Given the description of an element on the screen output the (x, y) to click on. 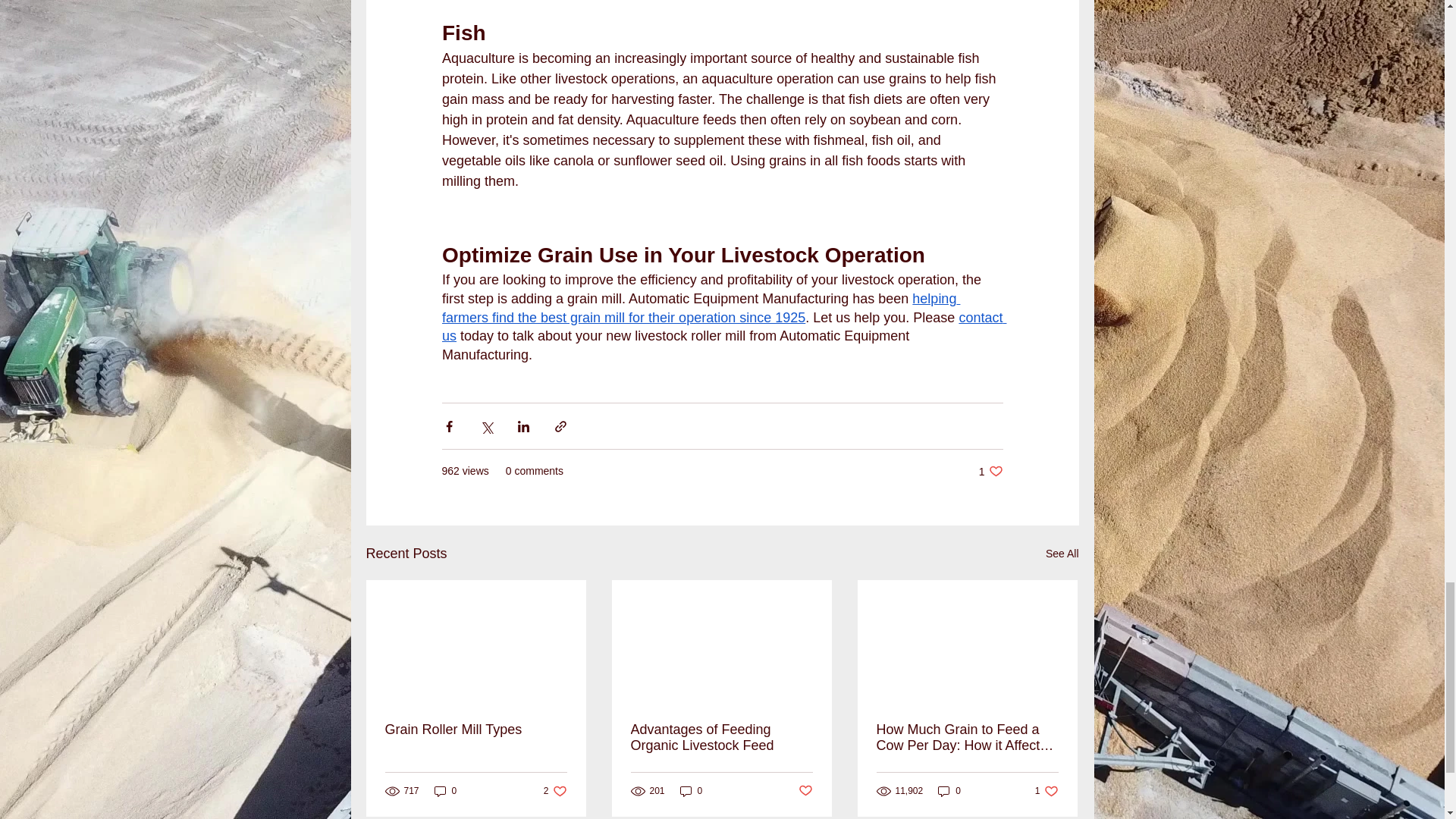
0 (691, 790)
Grain Roller Mill Types (555, 790)
0 (476, 729)
contact us (445, 790)
Advantages of Feeding Organic Livestock Feed (990, 471)
See All (723, 326)
